Given the description of an element on the screen output the (x, y) to click on. 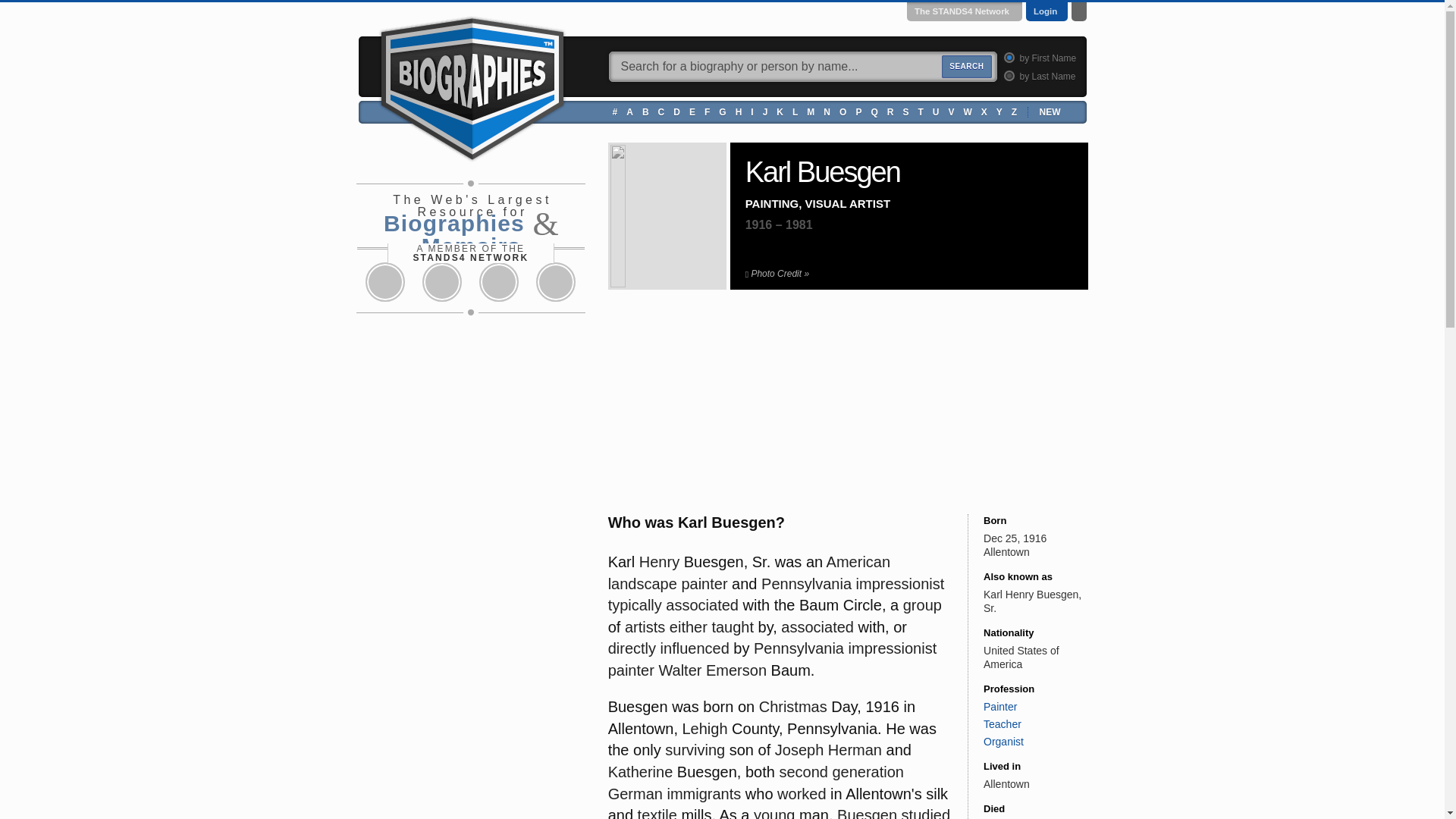
Login (1045, 10)
Q (873, 111)
G (721, 111)
I (751, 111)
Share this page on Facebook (384, 282)
A (630, 111)
O (842, 111)
Share this page on Twitter (441, 282)
C (660, 111)
E (691, 111)
J (764, 111)
Share this page on Reddit (498, 282)
B (645, 111)
Biographies.net (471, 86)
Karl Buesgen biography (666, 215)
